Given the description of an element on the screen output the (x, y) to click on. 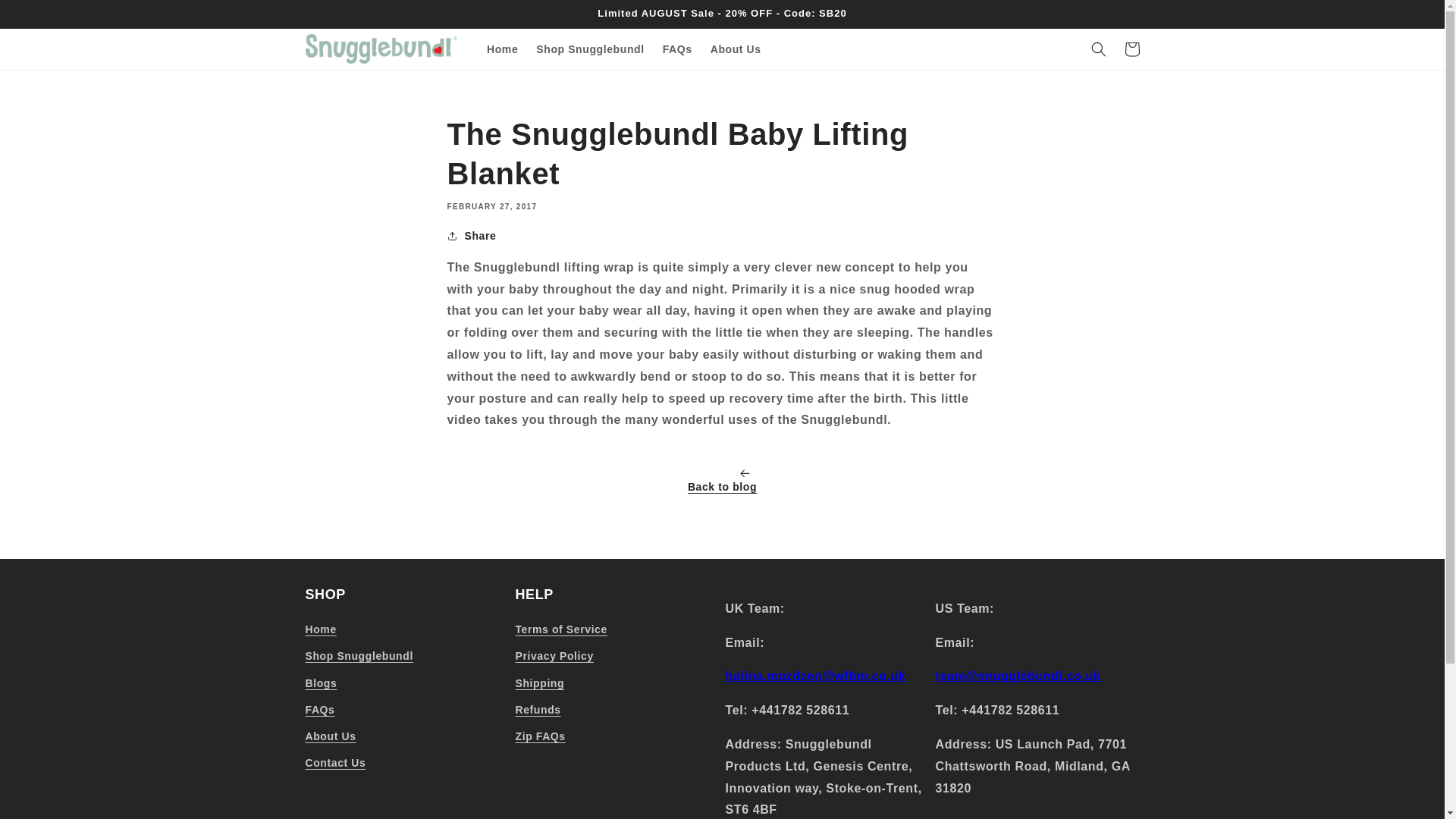
Contact Us (334, 763)
Privacy Policy (554, 655)
FAQs (319, 709)
Shop Snugglebundl (589, 49)
Refunds (537, 709)
About Us (735, 49)
Cart (1131, 49)
Home (502, 49)
Shop Snugglebundl (358, 655)
About Us (329, 736)
